Given the description of an element on the screen output the (x, y) to click on. 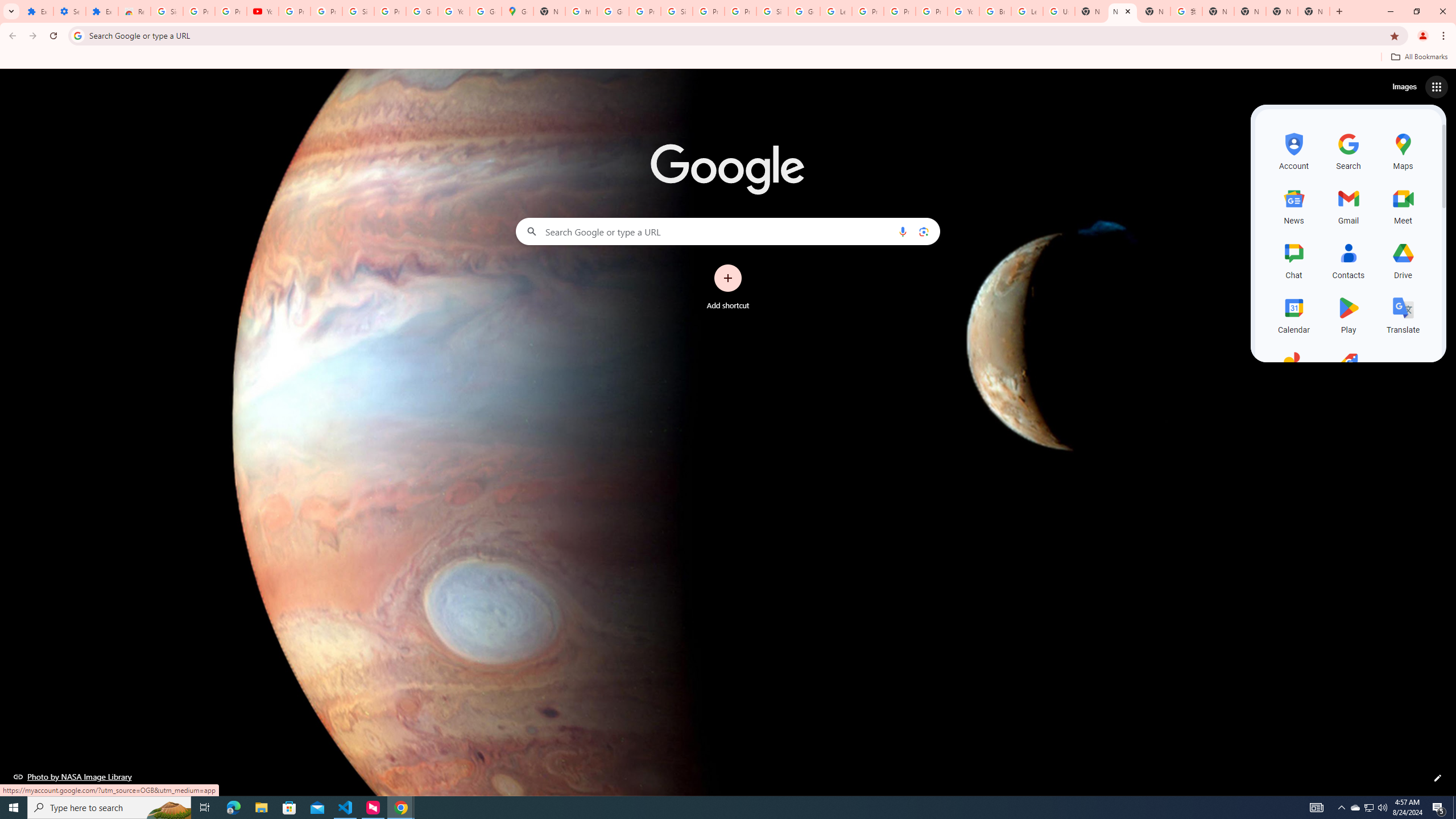
YouTube (262, 11)
Sign in - Google Accounts (772, 11)
Sign in - Google Accounts (358, 11)
Meet, row 2 of 5 and column 3 of 3 in the first section (1402, 204)
Customize this page (1437, 778)
Translate, row 4 of 5 and column 3 of 3 in the first section (1402, 313)
